Given the description of an element on the screen output the (x, y) to click on. 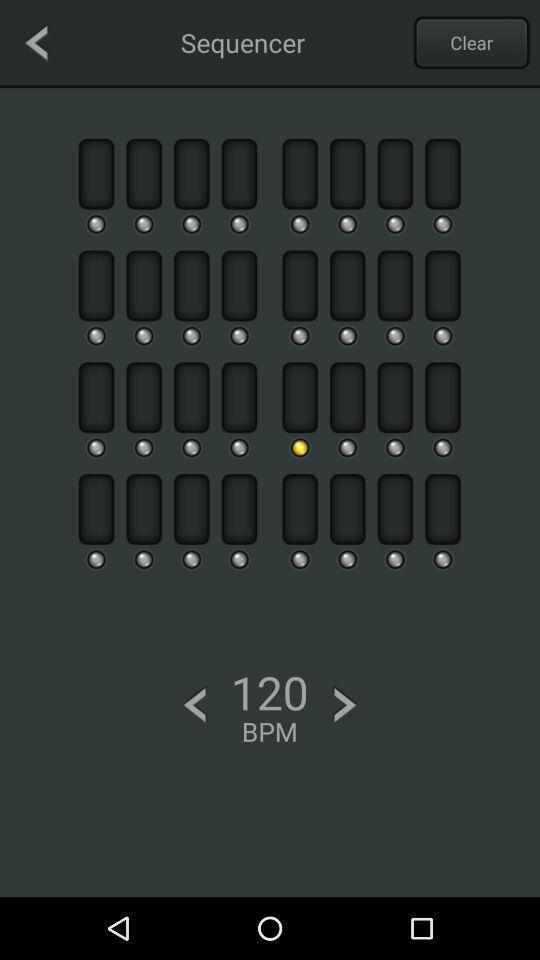
choose higher (345, 704)
